Given the description of an element on the screen output the (x, y) to click on. 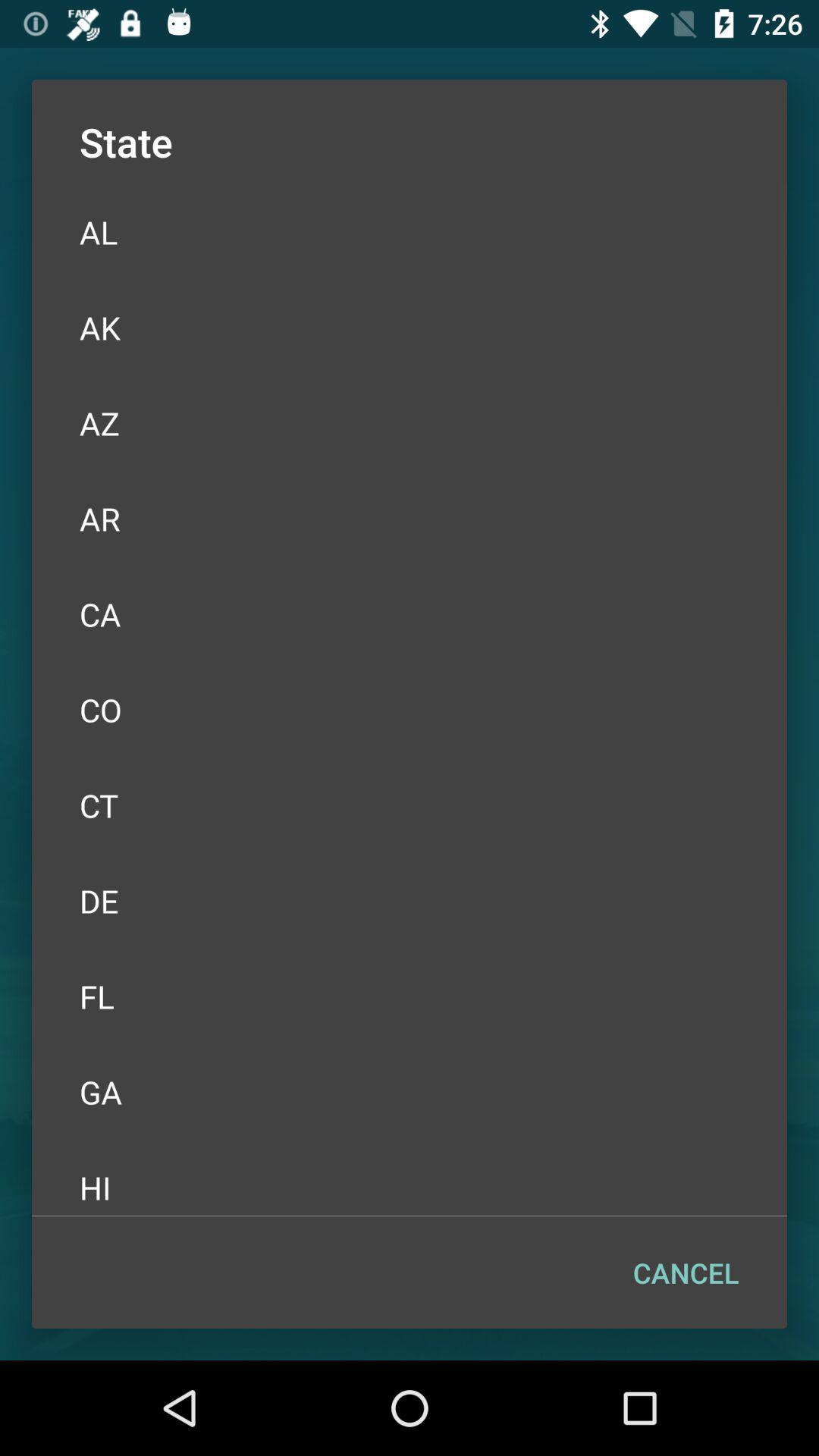
turn off icon below co item (409, 805)
